Given the description of an element on the screen output the (x, y) to click on. 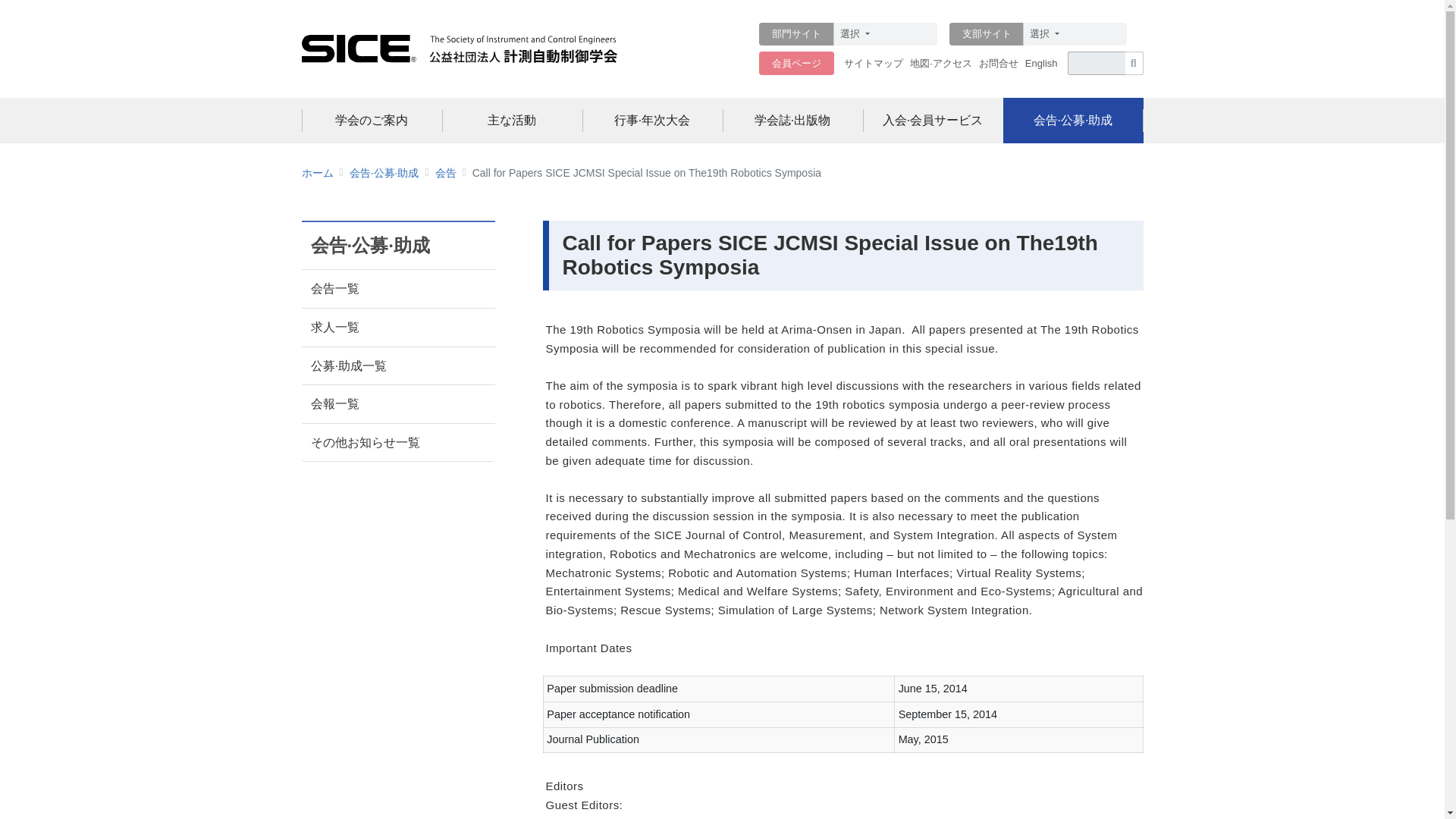
English (1043, 63)
English (1041, 62)
